Given the description of an element on the screen output the (x, y) to click on. 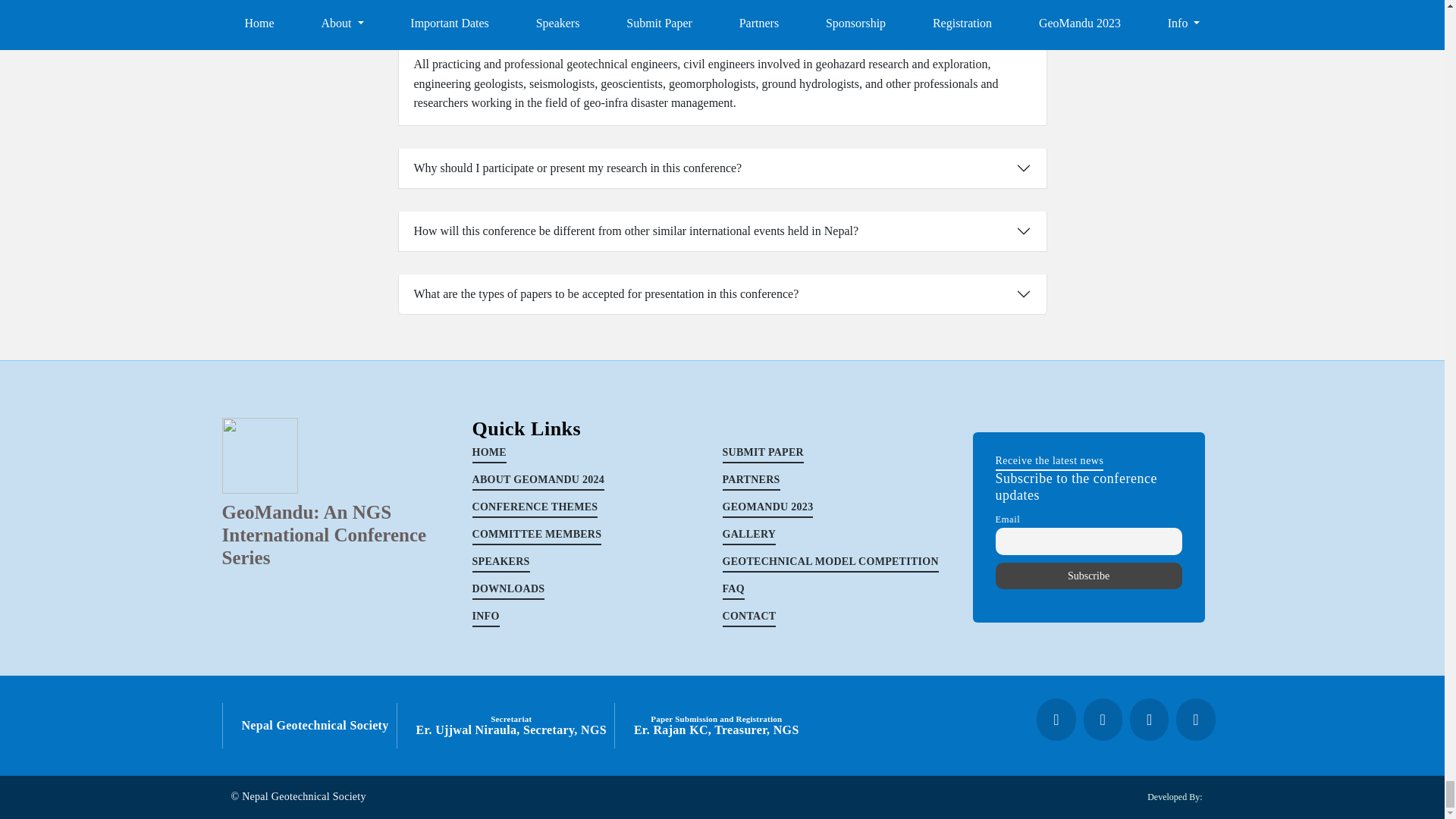
Subscribe (1087, 575)
